Given the description of an element on the screen output the (x, y) to click on. 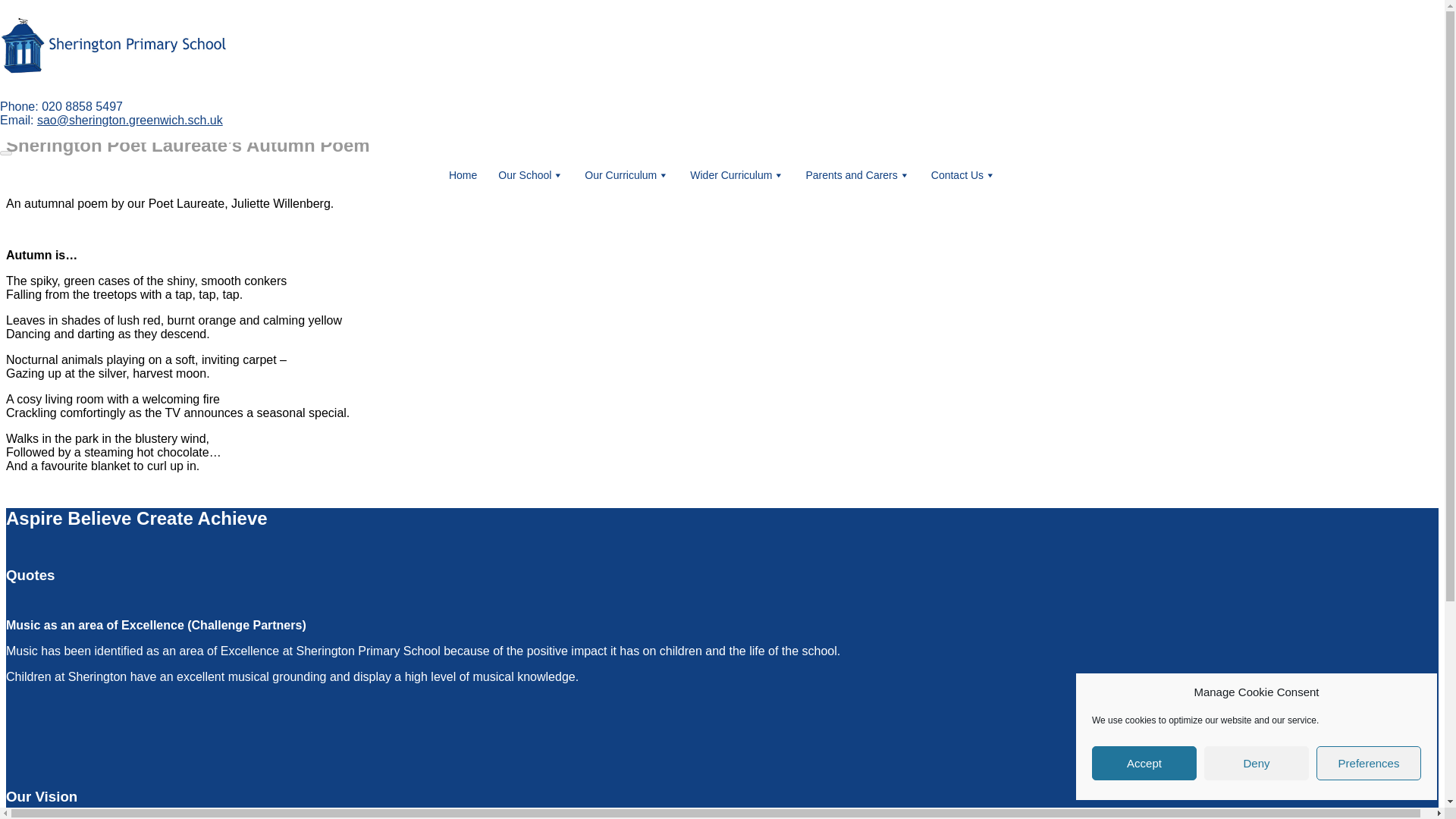
Deny (1256, 763)
Our School (530, 174)
Accept (1144, 763)
Our Curriculum (626, 174)
Preferences (1368, 763)
Home (462, 174)
